Given the description of an element on the screen output the (x, y) to click on. 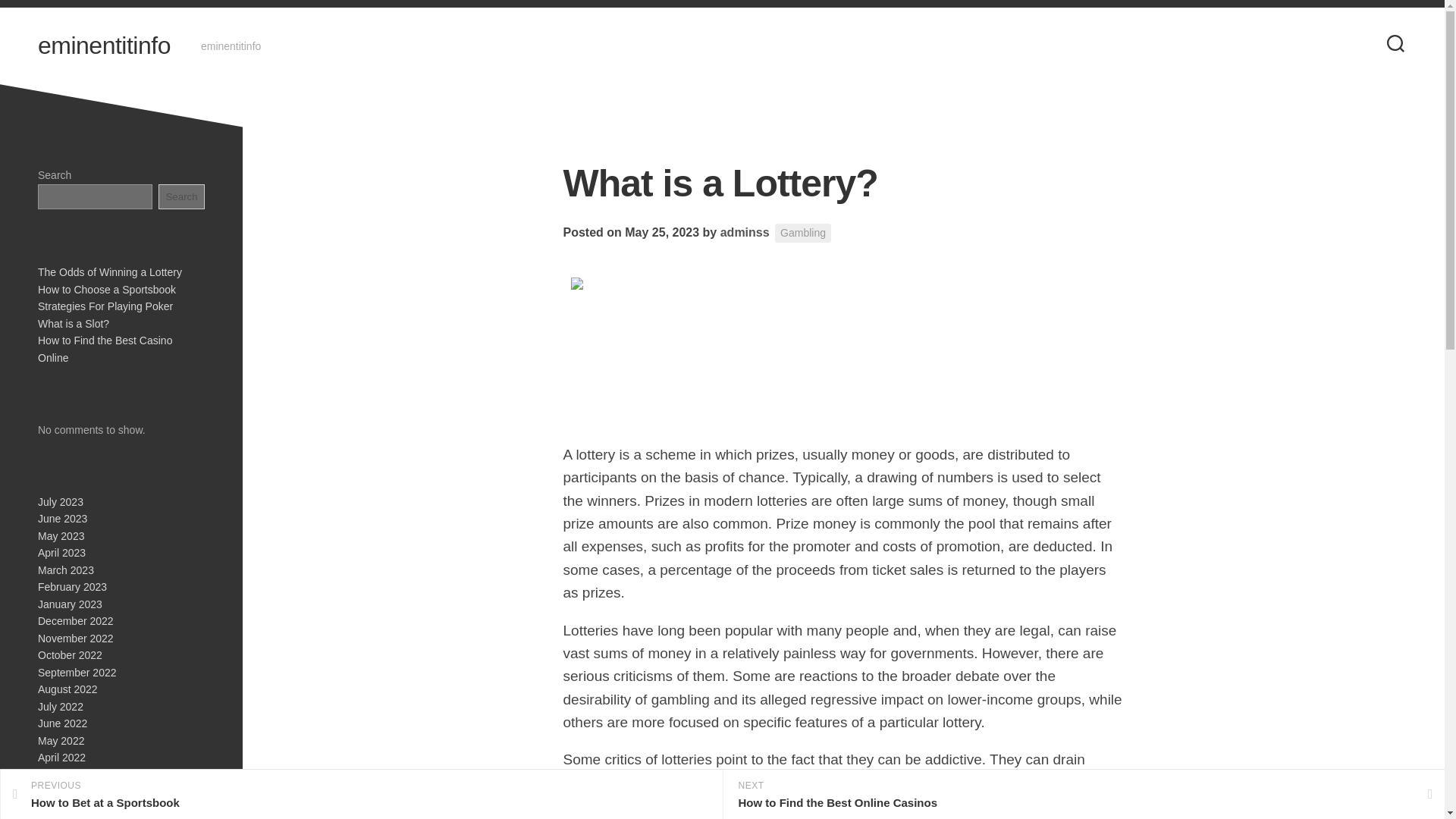
May 2022 (60, 739)
The Odds of Winning a Lottery (109, 272)
April 2023 (61, 552)
April 2022 (61, 757)
How to Find the Best Casino Online (104, 348)
September 2022 (76, 671)
March 2023 (65, 570)
August 2022 (67, 689)
May 2023 (60, 535)
November 2022 (75, 638)
